Given the description of an element on the screen output the (x, y) to click on. 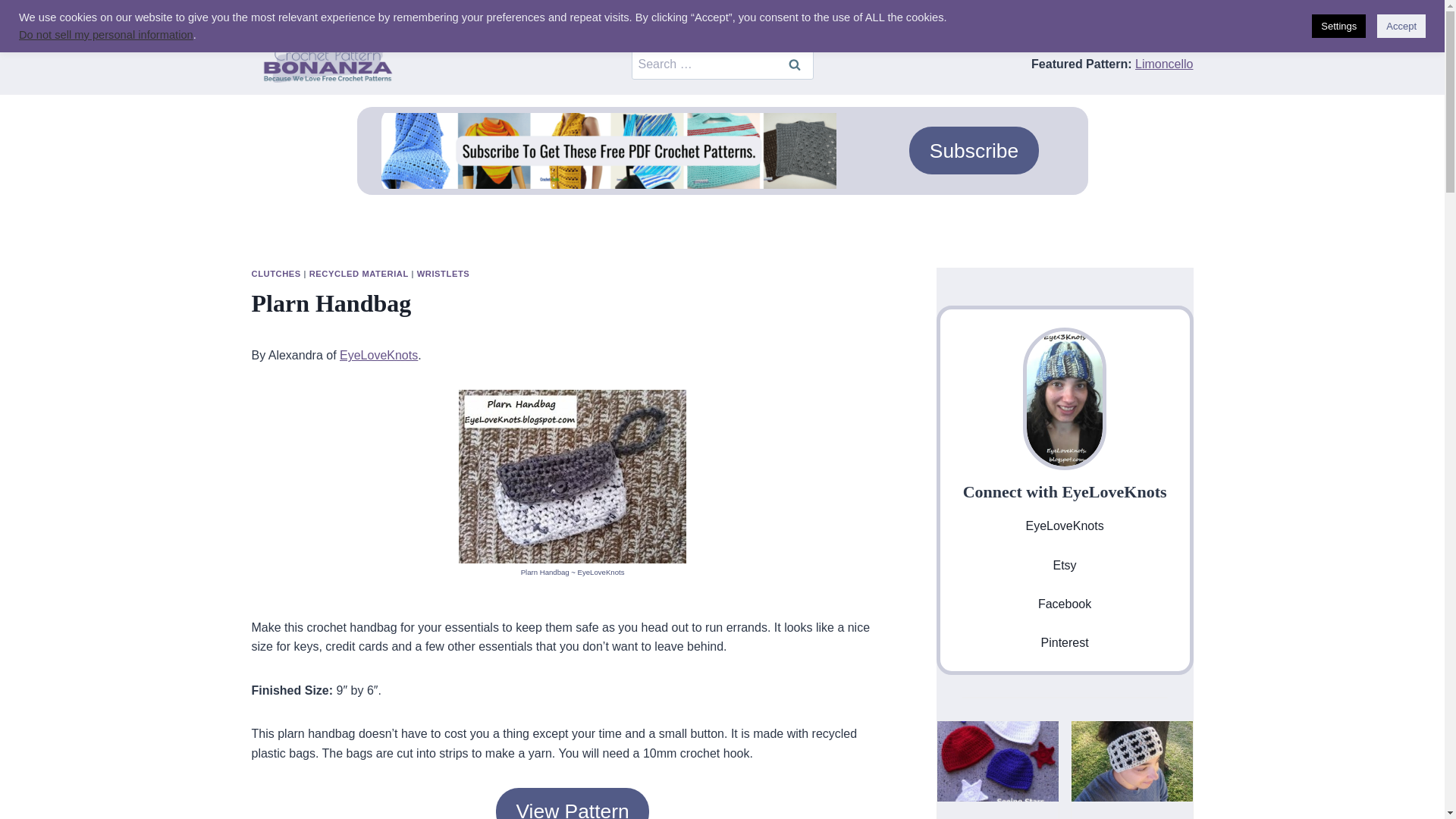
Search (793, 64)
Search (793, 64)
Accessories (297, 17)
EyeLoveKnots (378, 354)
